Given the description of an element on the screen output the (x, y) to click on. 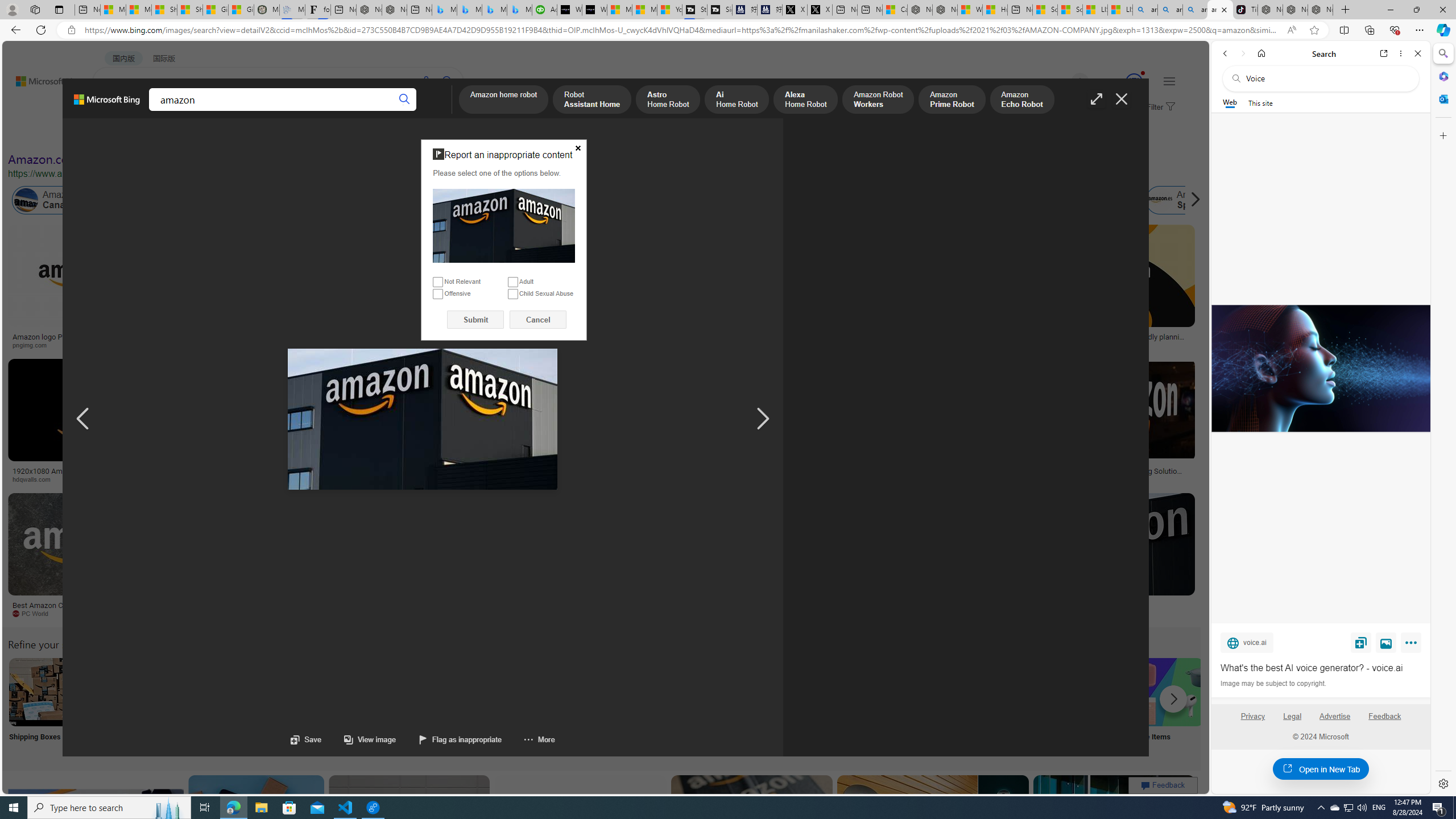
PC World (34, 612)
License (377, 135)
Online Shopping Search (118, 706)
mobilemarketingmagazine.com (1099, 479)
Amazon Jobs Near Me Jobs Near Me (342, 706)
Manatee Mortality Statistics | FWC (265, 9)
ACADEMIC (311, 111)
